Given the description of an element on the screen output the (x, y) to click on. 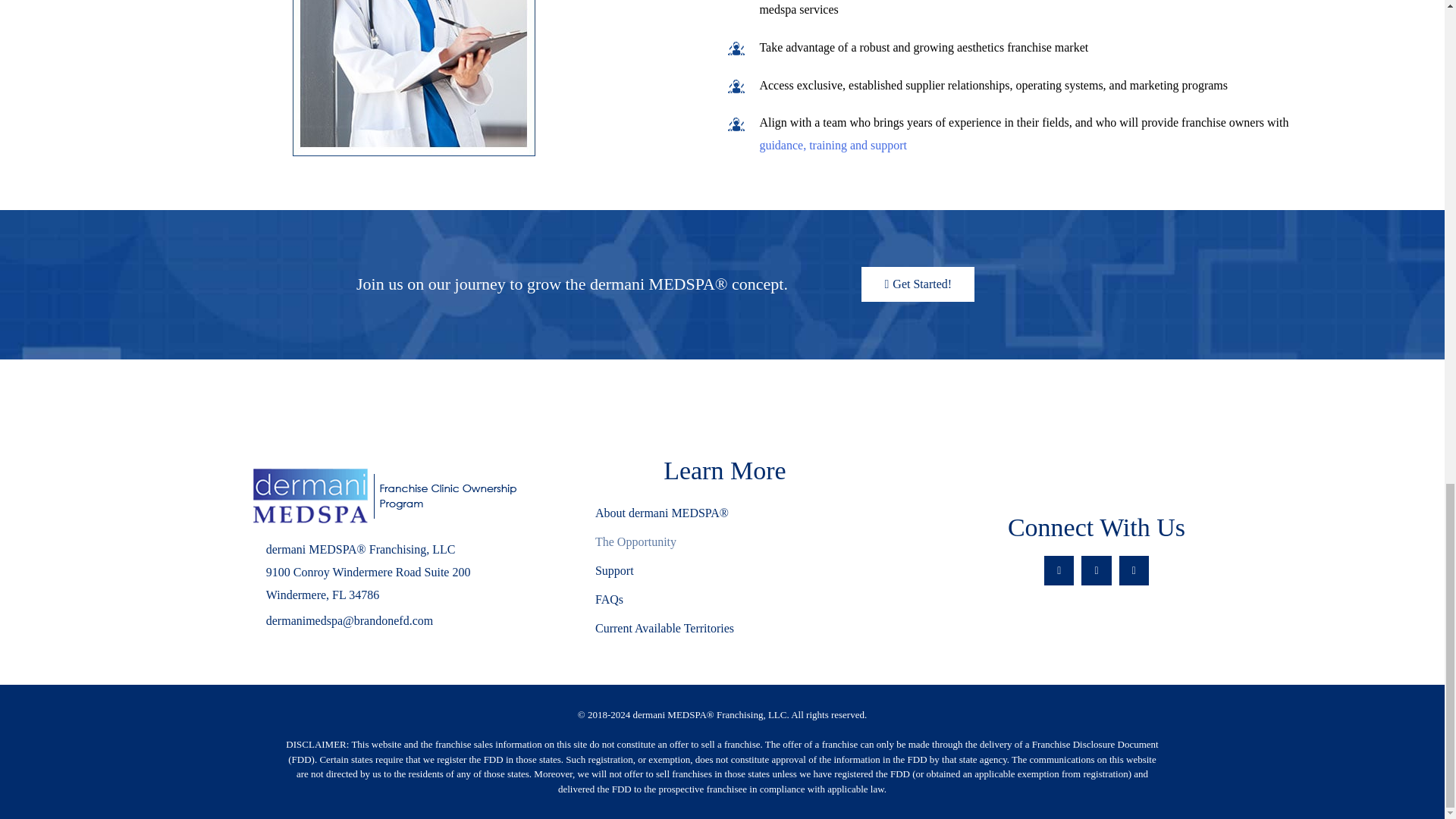
guidance, training and support (832, 144)
Get Started! (917, 284)
Linkedin-in (1133, 570)
Support (724, 570)
Twitter (1095, 570)
FAQs (724, 599)
The Opportunity (724, 541)
Current Available Territories (724, 628)
Facebook-f (1058, 570)
